Given the description of an element on the screen output the (x, y) to click on. 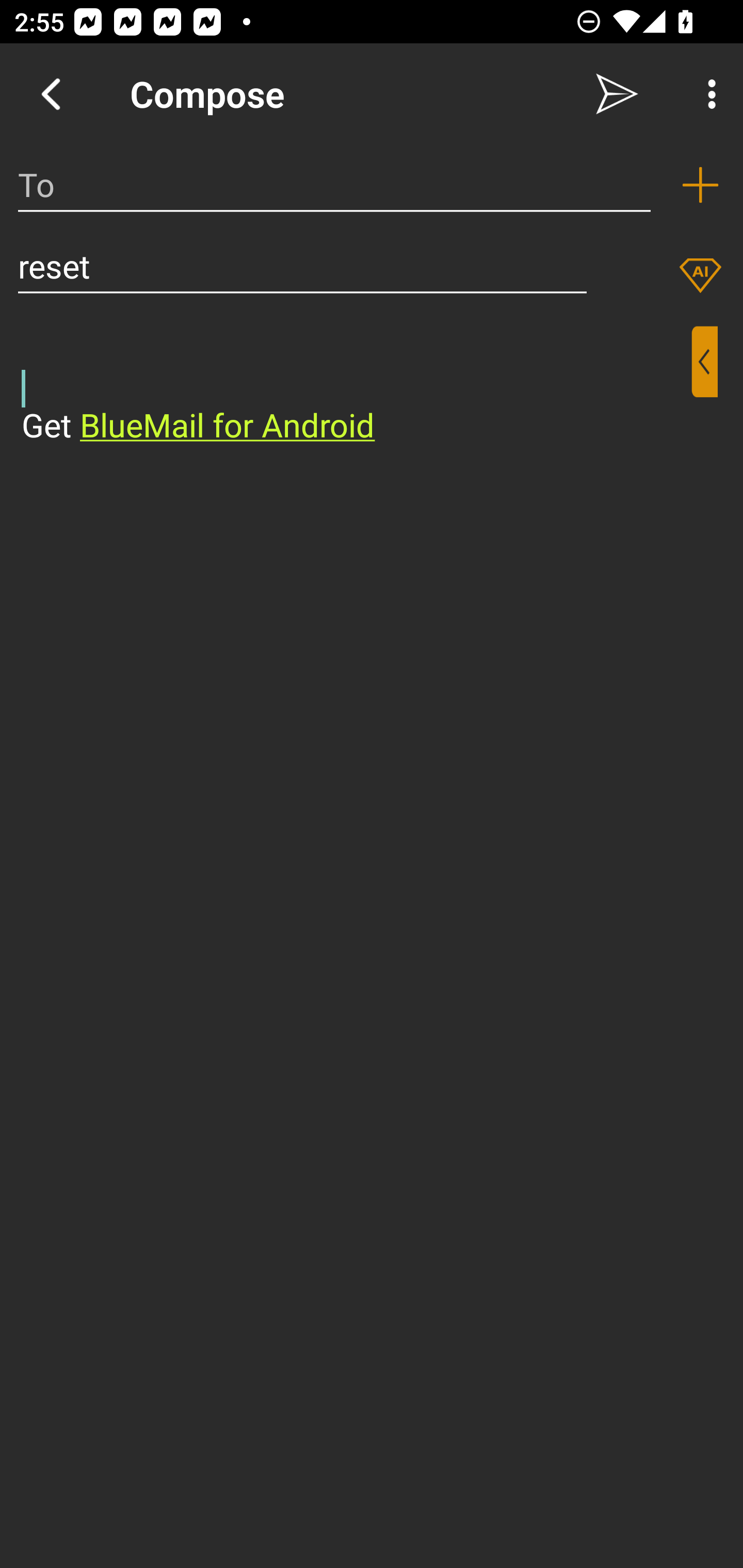
Navigate up (50, 93)
Send (616, 93)
More Options (706, 93)
To (334, 184)
Add recipient (To) (699, 184)
reset (302, 266)


⁣Get BlueMail for Android ​ (355, 386)
